Given the description of an element on the screen output the (x, y) to click on. 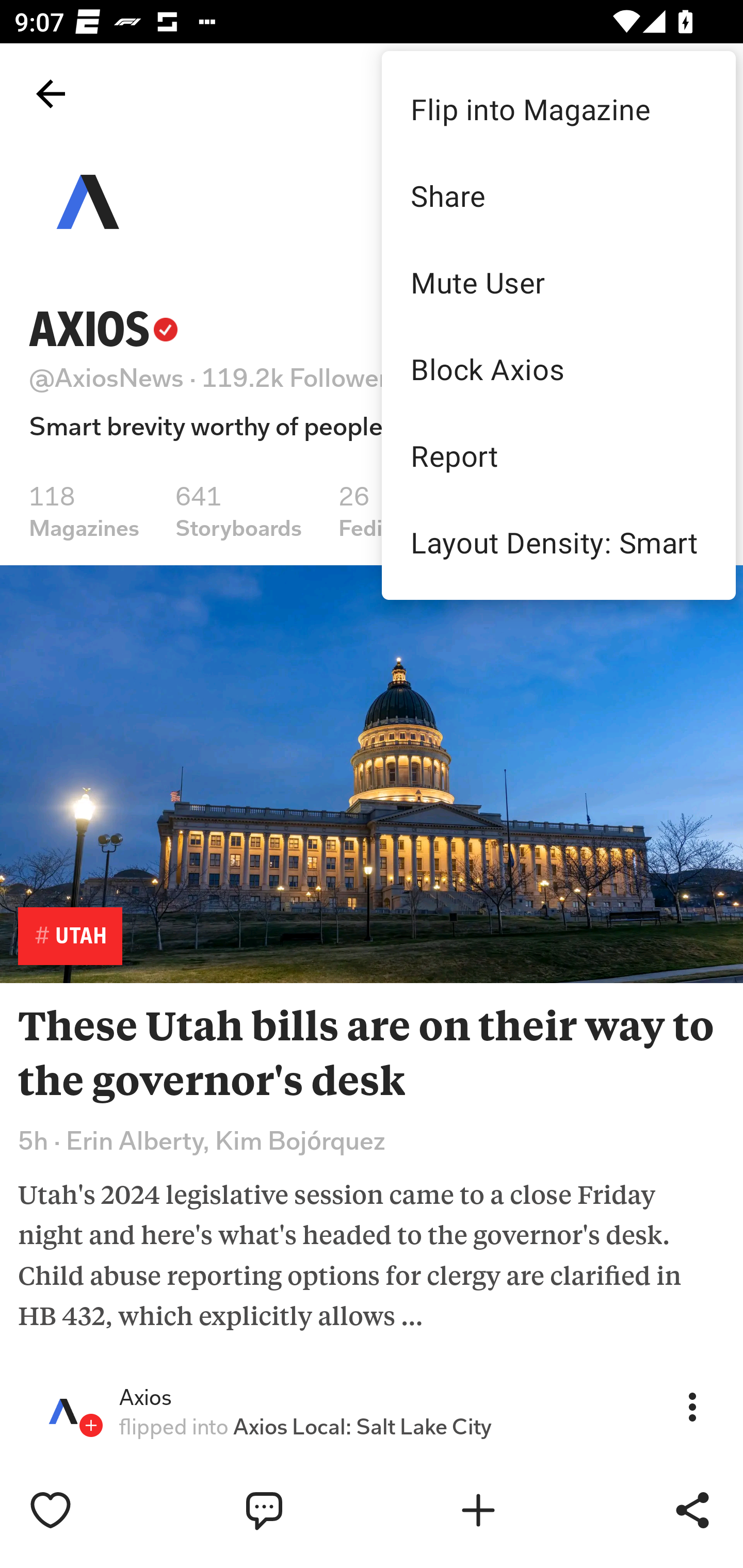
Flip into Magazine (558, 108)
Share (558, 195)
Mute User (558, 282)
Block Axios (558, 369)
Report (558, 455)
Layout Density: Smart (558, 541)
